Given the description of an element on the screen output the (x, y) to click on. 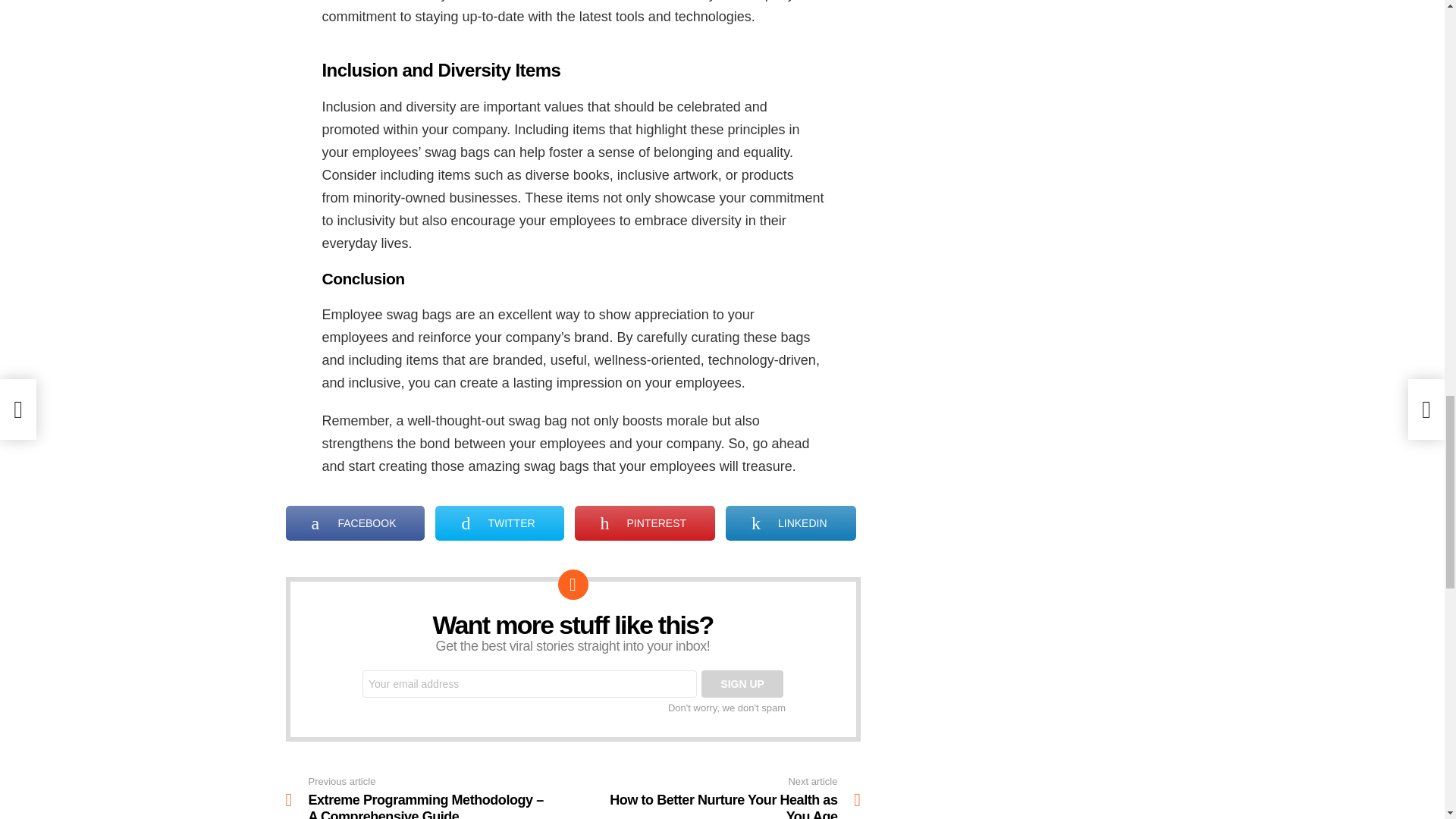
Share on Twitter (499, 523)
Share on Pinterest (644, 523)
LINKEDIN (790, 523)
Sign up (742, 683)
PINTEREST (644, 523)
Share on Facebook (355, 523)
Share on LinkedIn (790, 523)
FACEBOOK (355, 523)
Sign up (742, 683)
TWITTER (499, 523)
